Given the description of an element on the screen output the (x, y) to click on. 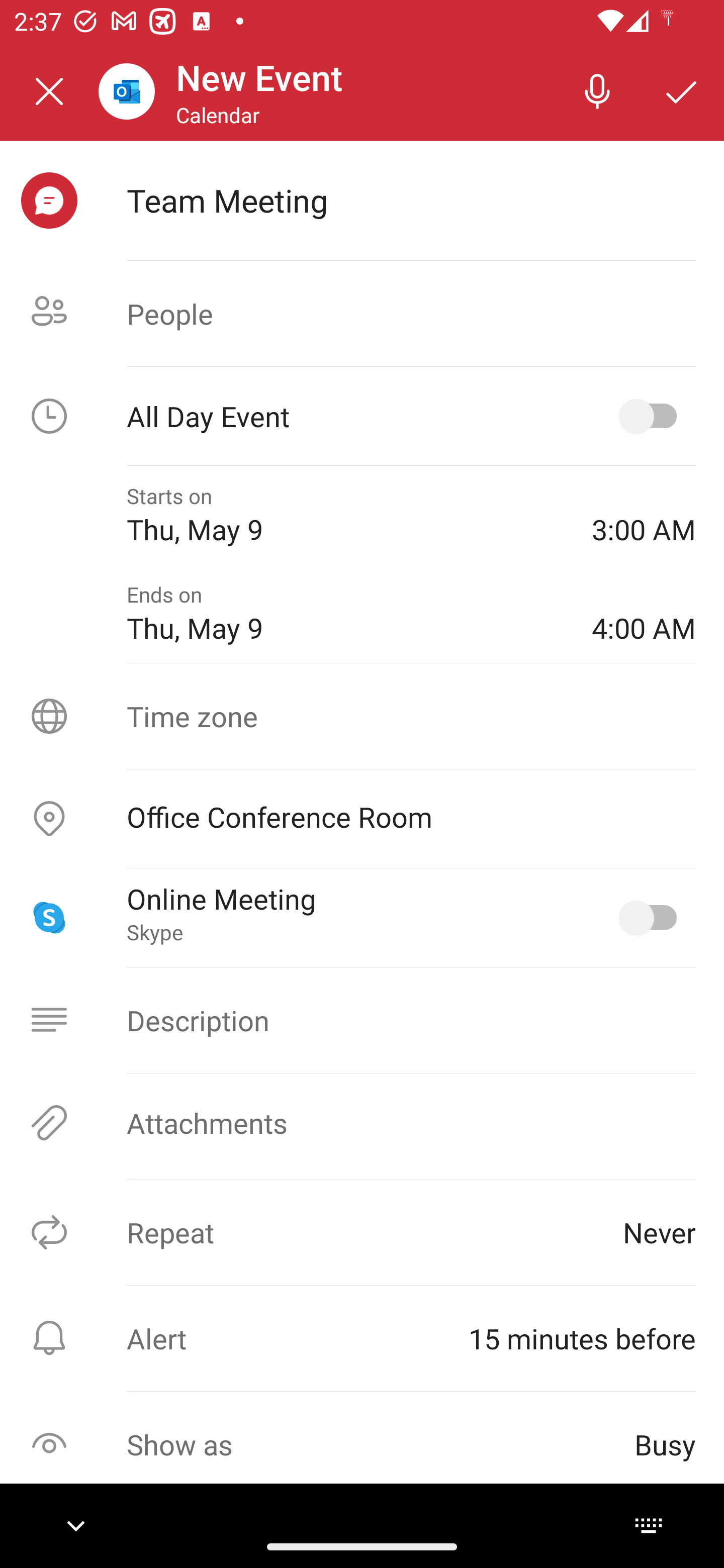
Close (49, 91)
Save (681, 90)
Team Meeting (410, 200)
meeting selected, event icon picker (48, 200)
People (362, 313)
All Day Event (362, 415)
Starts on Thu, May 9 (344, 514)
3:00 AM (643, 514)
Ends on Thu, May 9 (344, 613)
4:00 AM (643, 613)
Time zone (362, 715)
Online Meeting, Skype selected (651, 917)
Description (362, 1019)
Attachments (362, 1122)
Repeat Never (362, 1232)
Alert ⁨15 minutes before (362, 1337)
Show as Busy (362, 1444)
